Given the description of an element on the screen output the (x, y) to click on. 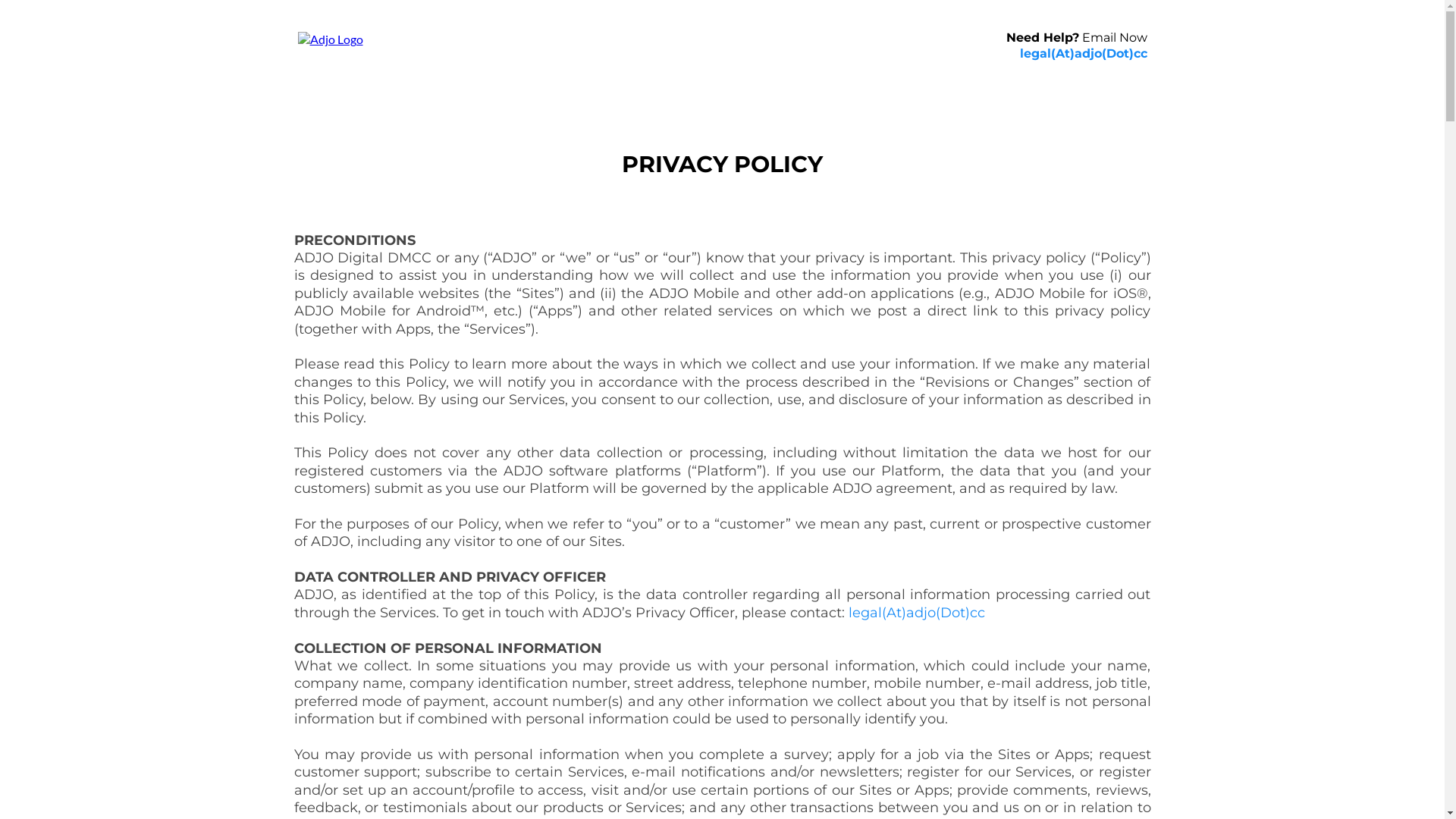
legal(At)adjo(Dot)cc Element type: text (915, 612)
legal(At)adjo(Dot)cc Element type: text (1082, 53)
